Given the description of an element on the screen output the (x, y) to click on. 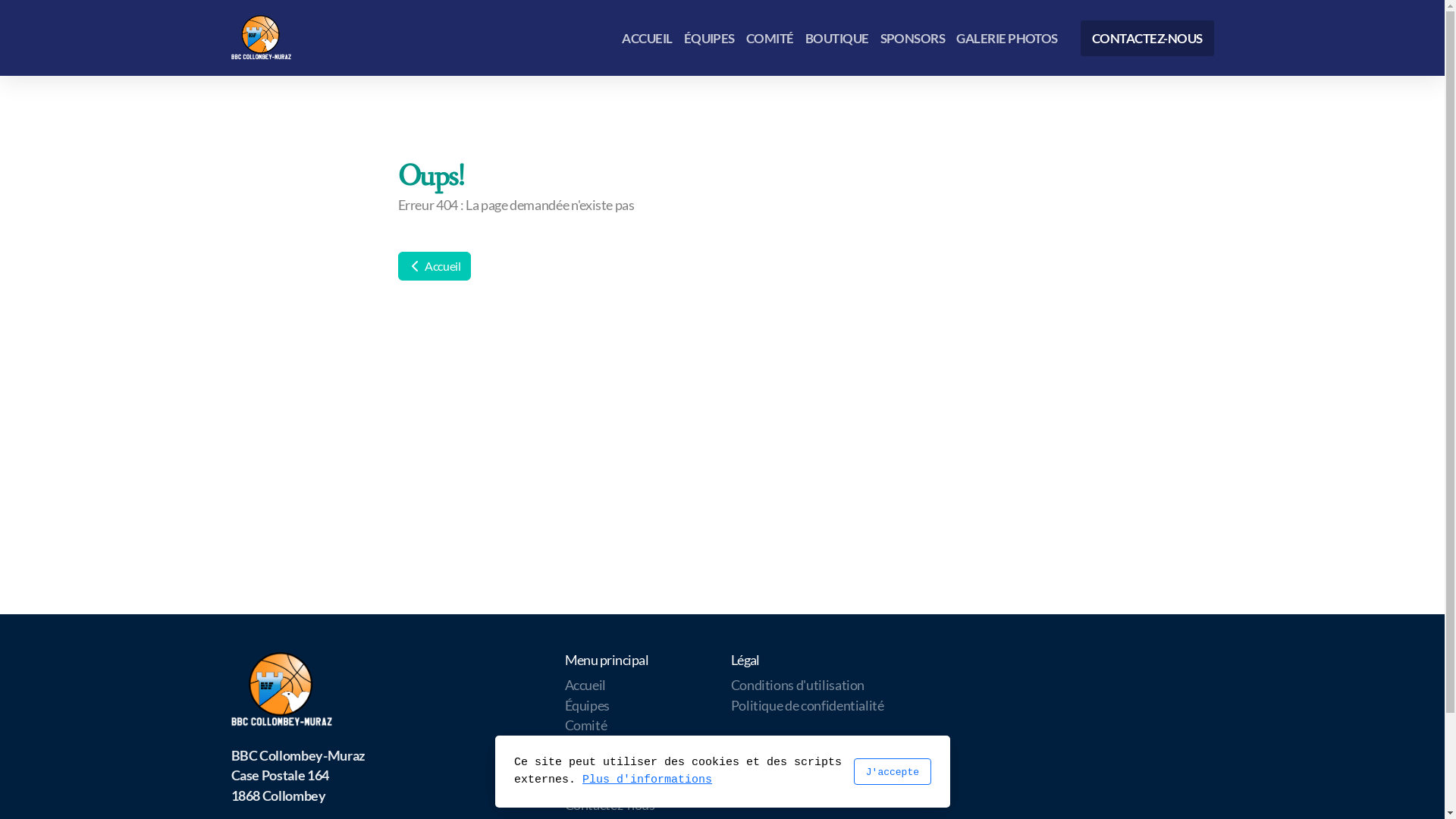
Sponsors Element type: text (590, 765)
Galerie photos Element type: text (605, 785)
Conditions d'utilisation Element type: text (798, 685)
Accueil Element type: text (433, 265)
Accueil Element type: text (584, 685)
ACCUEIL Element type: text (646, 37)
SPONSORS Element type: text (911, 37)
Plus d'informations Element type: text (647, 779)
GALERIE PHOTOS Element type: text (1006, 37)
Boutique Element type: text (590, 745)
CONTACTEZ-NOUS Element type: text (1147, 37)
Contactez-nous Element type: text (609, 804)
J'accepte Element type: text (891, 771)
BOUTIQUE Element type: text (837, 37)
